Given the description of an element on the screen output the (x, y) to click on. 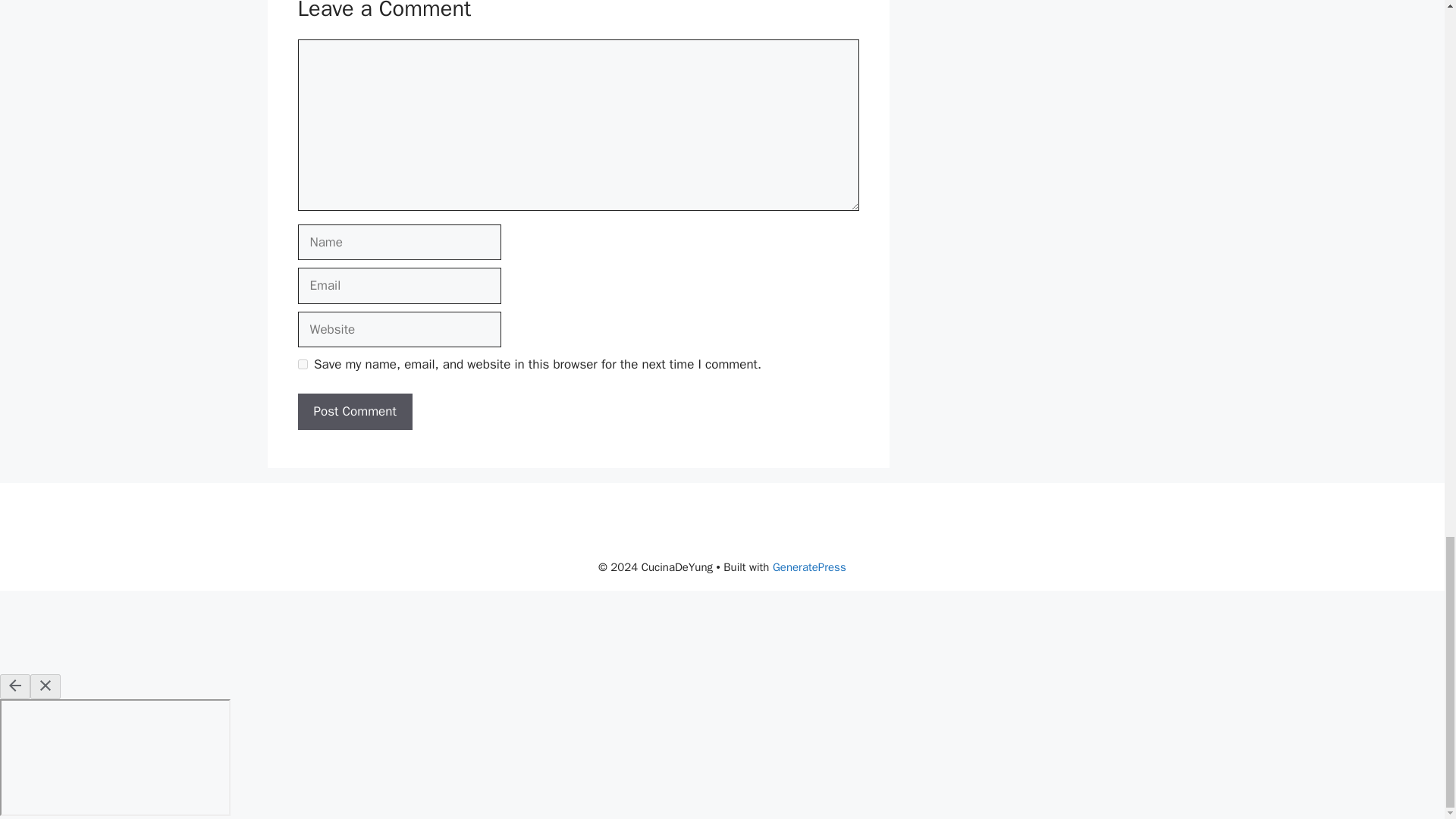
Post Comment (354, 411)
GeneratePress (809, 567)
Post Comment (354, 411)
yes (302, 364)
